Given the description of an element on the screen output the (x, y) to click on. 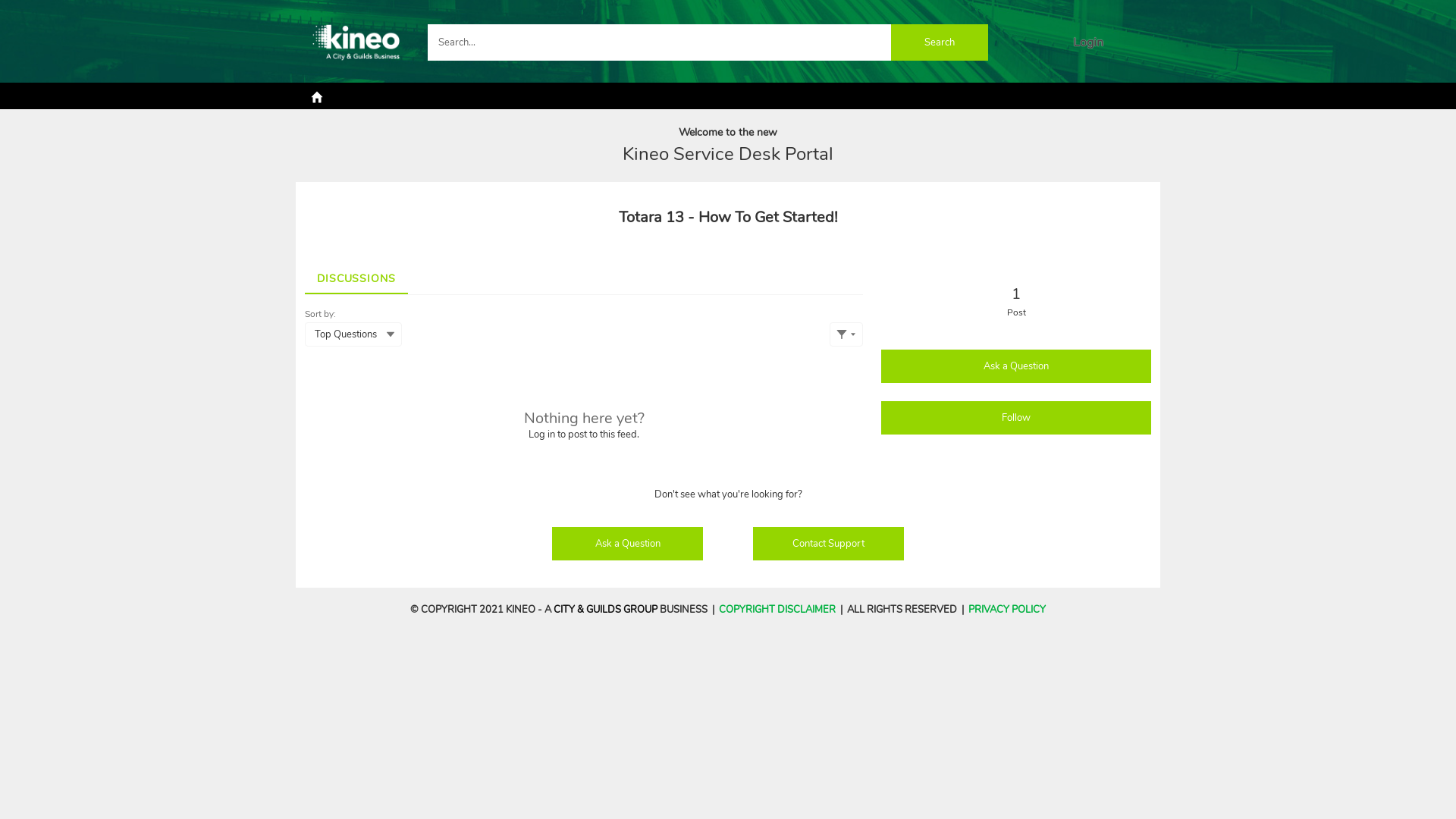
Filter Feed Element type: text (845, 333)
DISCUSSIONS Element type: text (355, 272)
Home Element type: text (316, 95)
Top Questions Element type: text (352, 333)
Skip to Navigation Element type: text (9, 4)
PRIVACY POLICY Element type: text (1006, 609)
Ask a Question Element type: text (627, 543)
Login Element type: text (1088, 42)
Follow Element type: text (1016, 416)
COPYRIGHT DISCLAIMER Element type: text (776, 609)
Contact Support Element type: text (828, 543)
Ask a Question Element type: text (1016, 365)
Kineo Service Desk Element type: text (355, 42)
Search Element type: text (939, 42)
CITY & GUILDS GROUP Element type: text (605, 609)
